Given the description of an element on the screen output the (x, y) to click on. 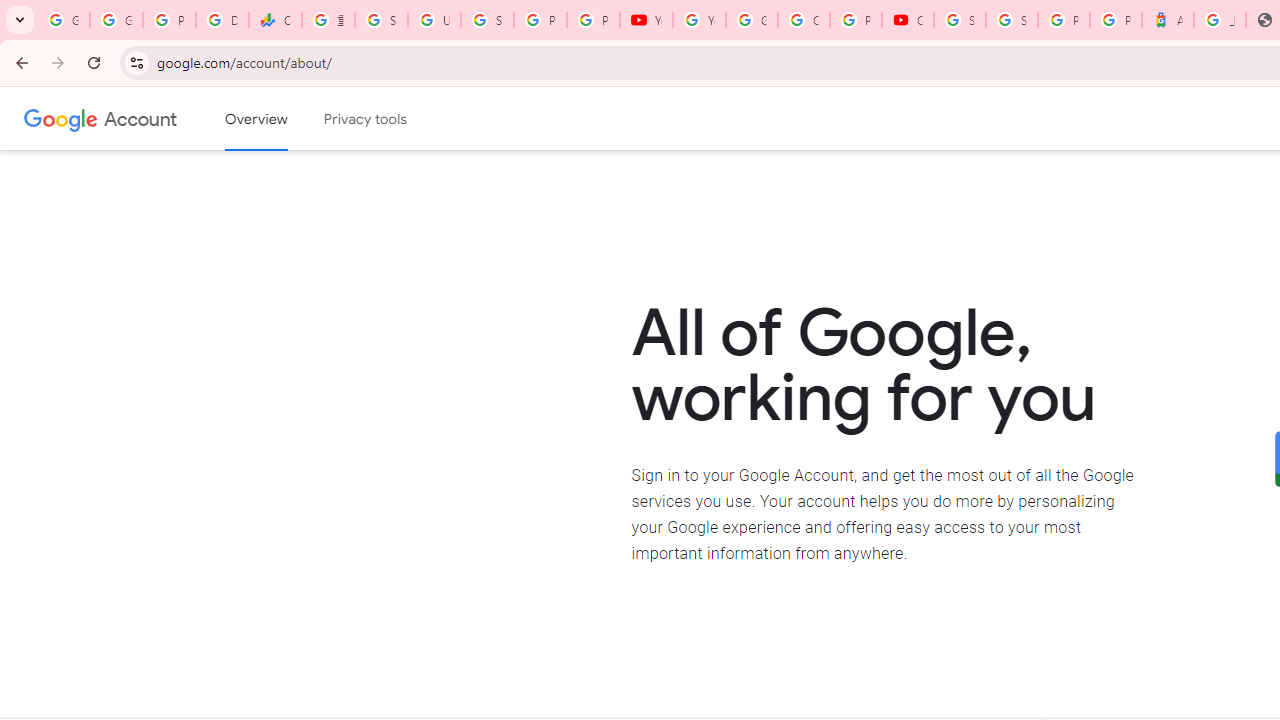
Sign in - Google Accounts (381, 20)
YouTube (646, 20)
Currencies - Google Finance (275, 20)
Back (19, 62)
Atour Hotel - Google hotels (1167, 20)
View site information (136, 62)
Google Workspace Admin Community (63, 20)
Google logo (61, 118)
System (10, 11)
System (10, 11)
Sign in - Google Accounts (1011, 20)
Forward (57, 62)
